Given the description of an element on the screen output the (x, y) to click on. 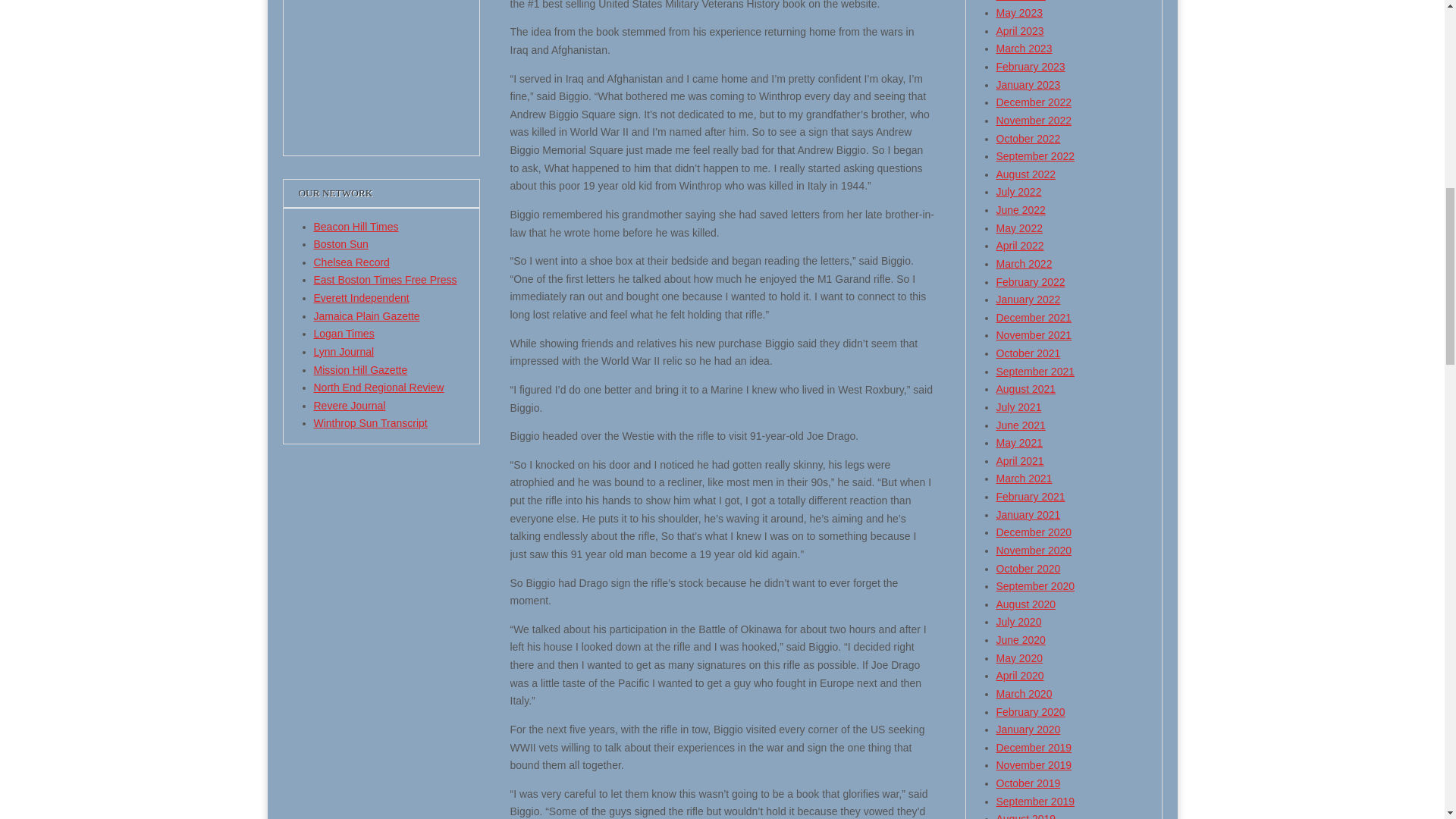
Beacon Hill Times (356, 226)
Everett Independent (361, 297)
North End Regional Review (379, 387)
Chelsea Record (352, 262)
Winthrop Sun Transcript (371, 422)
Revere Journal (349, 405)
Jamaica Plain Gazette (367, 316)
Lynn Journal (344, 351)
East Boston Times Free Press (385, 279)
Mission Hill Gazette (360, 369)
